Given the description of an element on the screen output the (x, y) to click on. 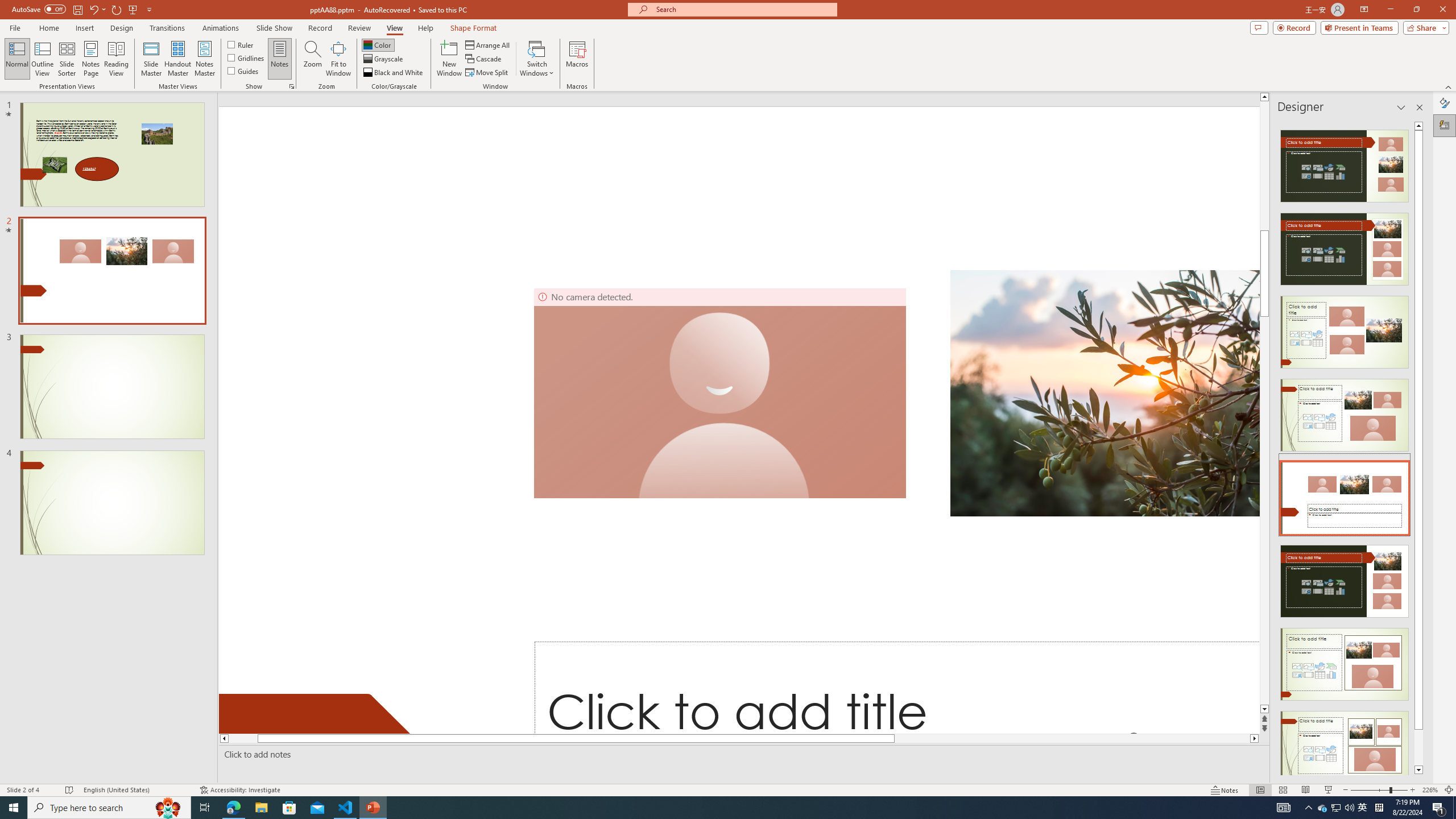
Ruler (241, 44)
Close up of an olive branch on a sunset (1104, 393)
Decorative Locked (319, 713)
Grid Settings... (291, 85)
Zoom... (312, 58)
Notes Page (90, 58)
Gridlines (246, 56)
